Given the description of an element on the screen output the (x, y) to click on. 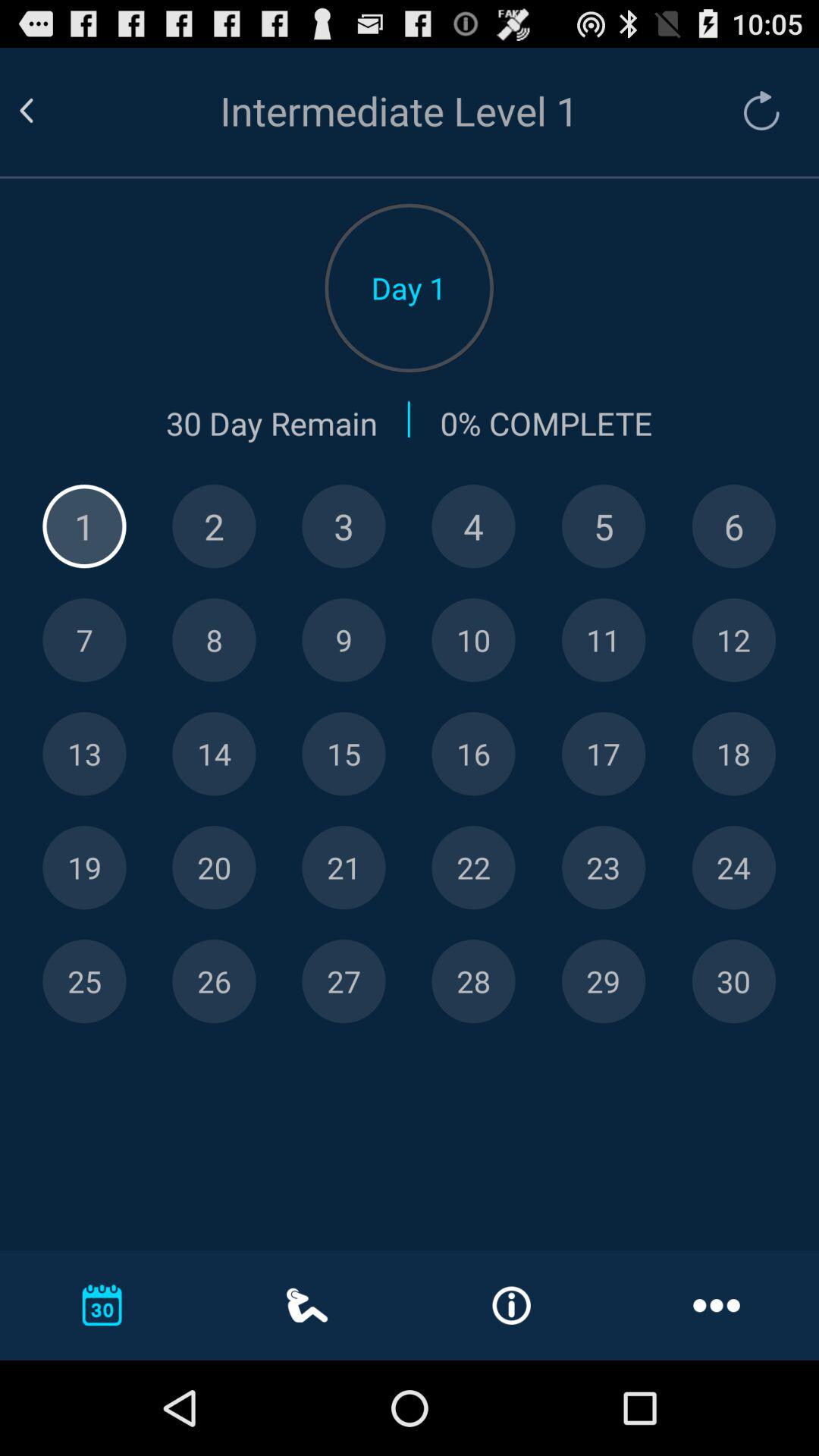
select day 13 (84, 753)
